Given the description of an element on the screen output the (x, y) to click on. 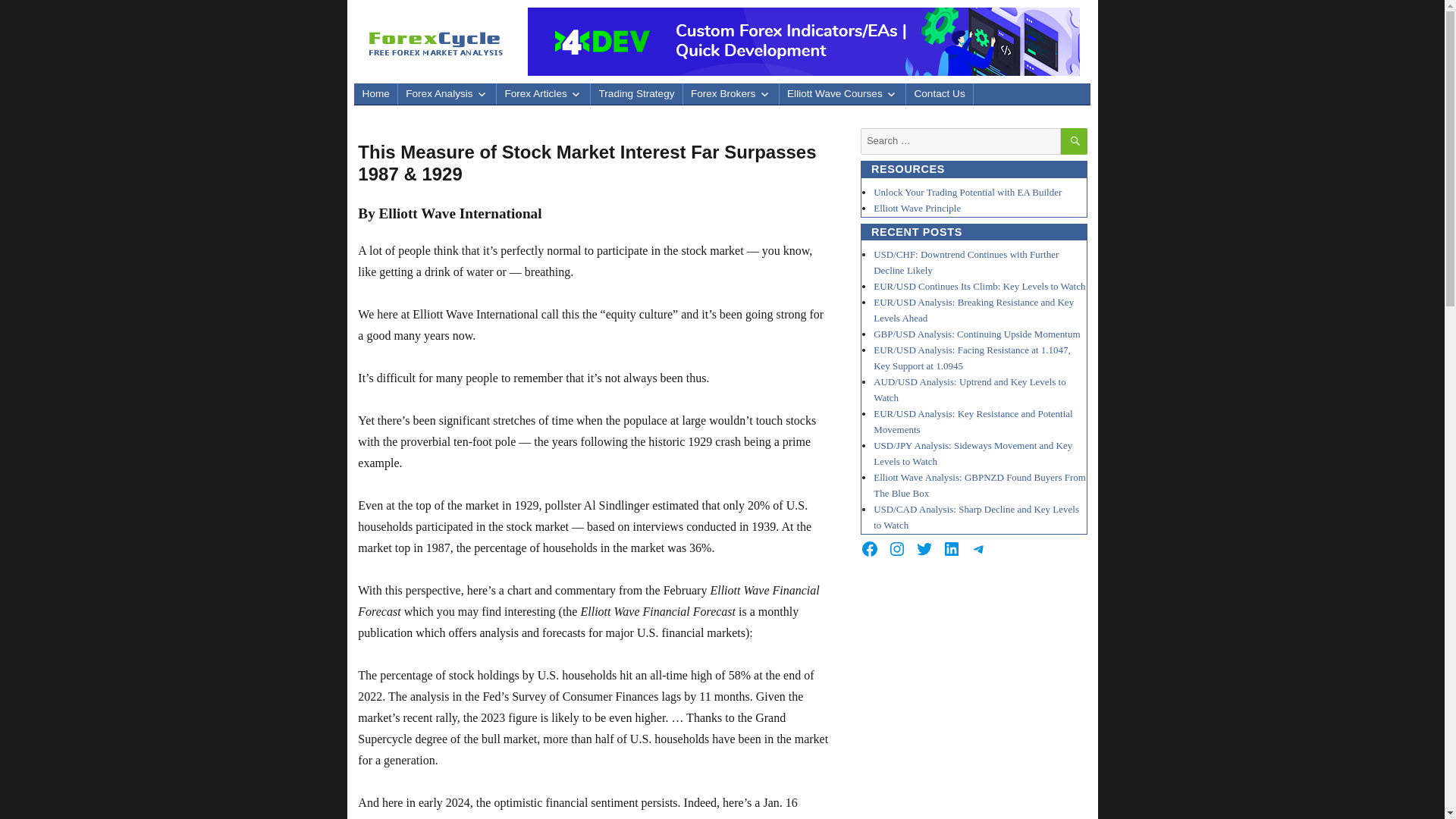
Home (375, 93)
Forex Brokers (730, 93)
Forex Analysis (446, 93)
Elliott Wave Courses (841, 93)
Contact Us (938, 93)
Trading Strategy (636, 93)
Forex Articles (542, 93)
